Given the description of an element on the screen output the (x, y) to click on. 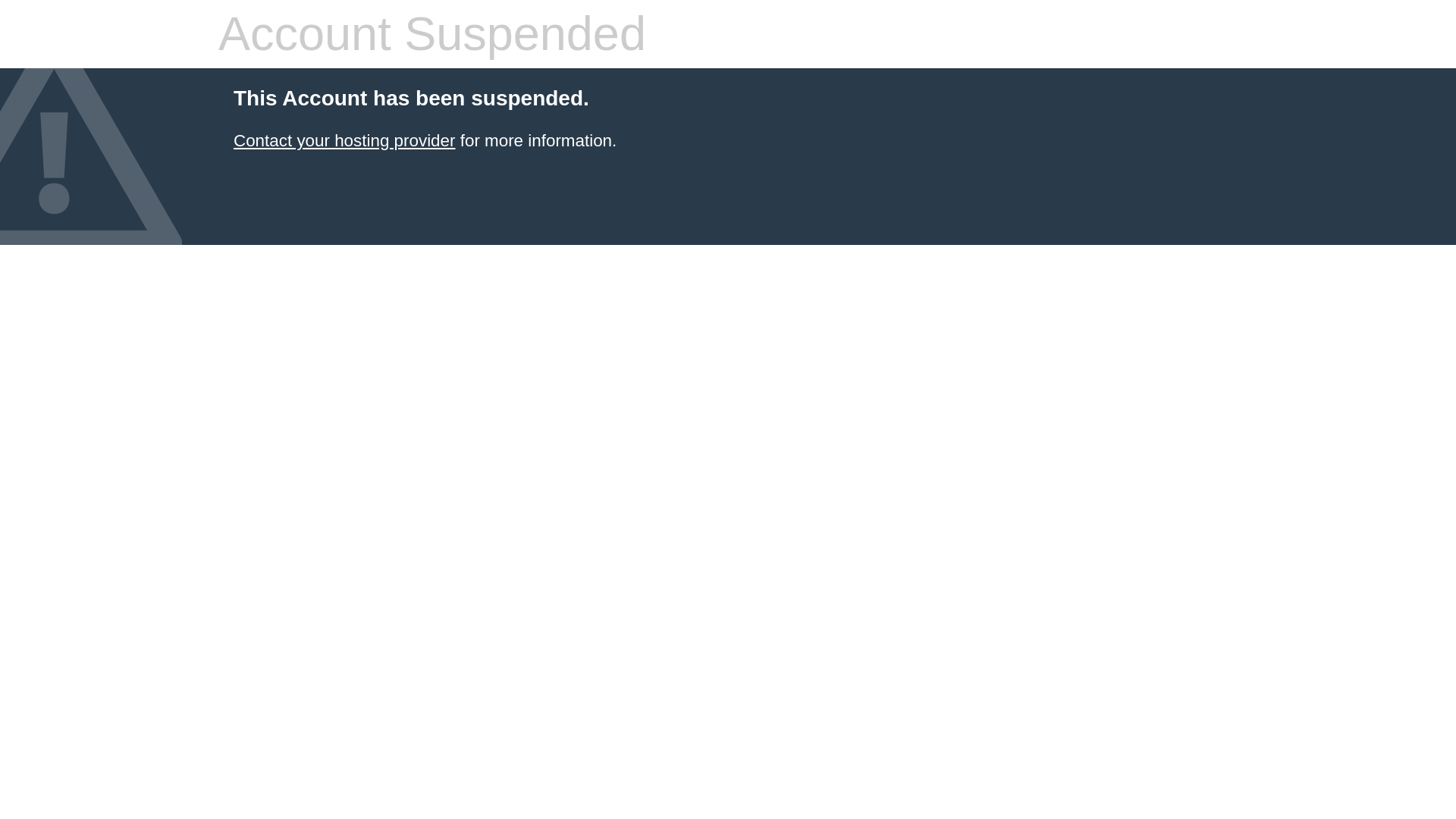
Contact your hosting provider (343, 140)
